Given the description of an element on the screen output the (x, y) to click on. 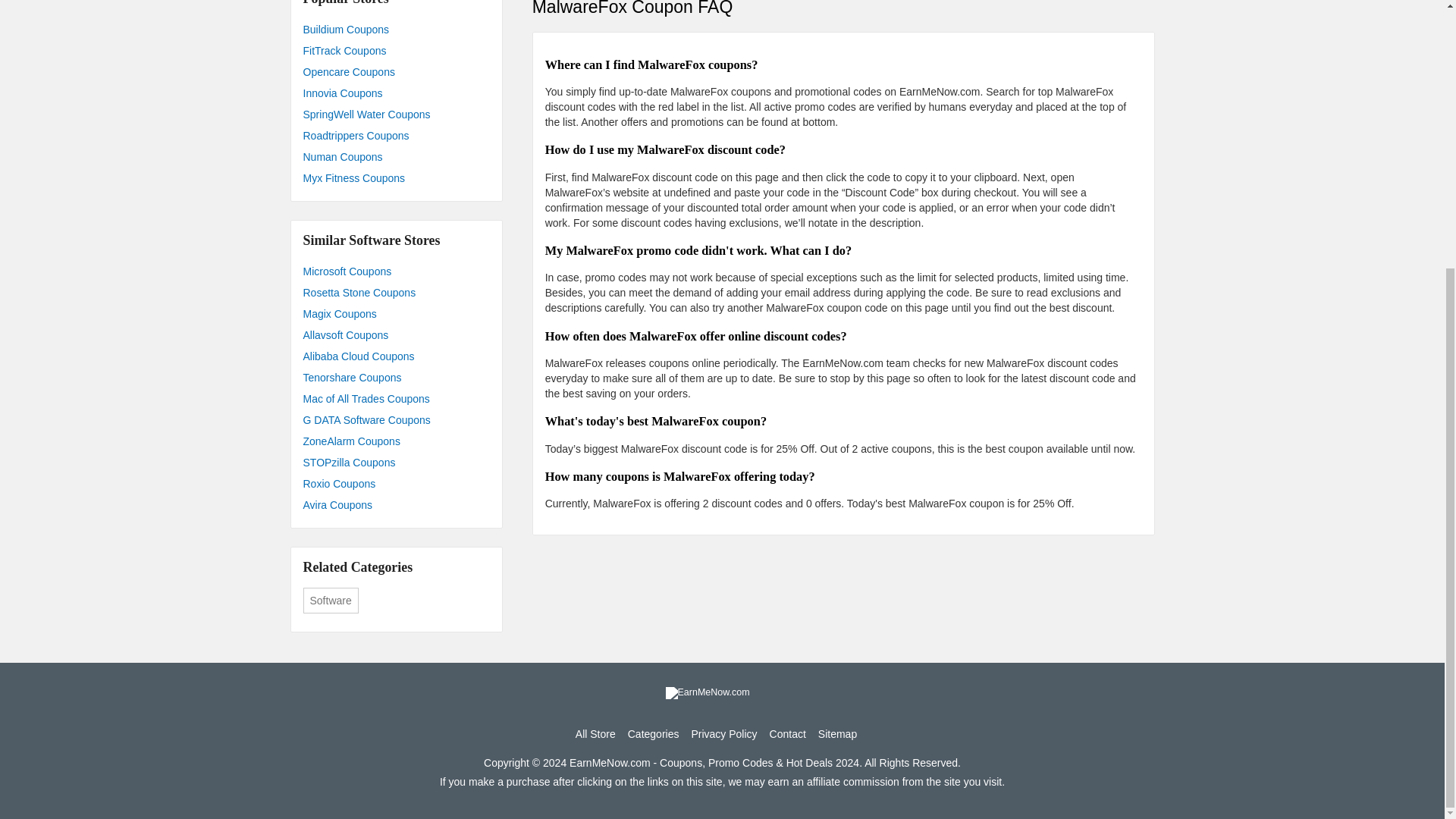
Alibaba Cloud Coupons (395, 355)
Magix Coupons (395, 313)
Categories (653, 734)
FitTrack Coupons (395, 50)
Allavsoft Coupons (395, 334)
Rosetta Stone Coupons (395, 292)
G DATA Software Coupons (395, 419)
Sitemap (837, 734)
SpringWell Water Coupons (395, 114)
Tenorshare Coupons (395, 377)
Mac of All Trades Coupons (395, 398)
Opencare Coupons (395, 71)
Roxio Coupons (395, 483)
Contact (788, 734)
Buildium Coupons (395, 29)
